Given the description of an element on the screen output the (x, y) to click on. 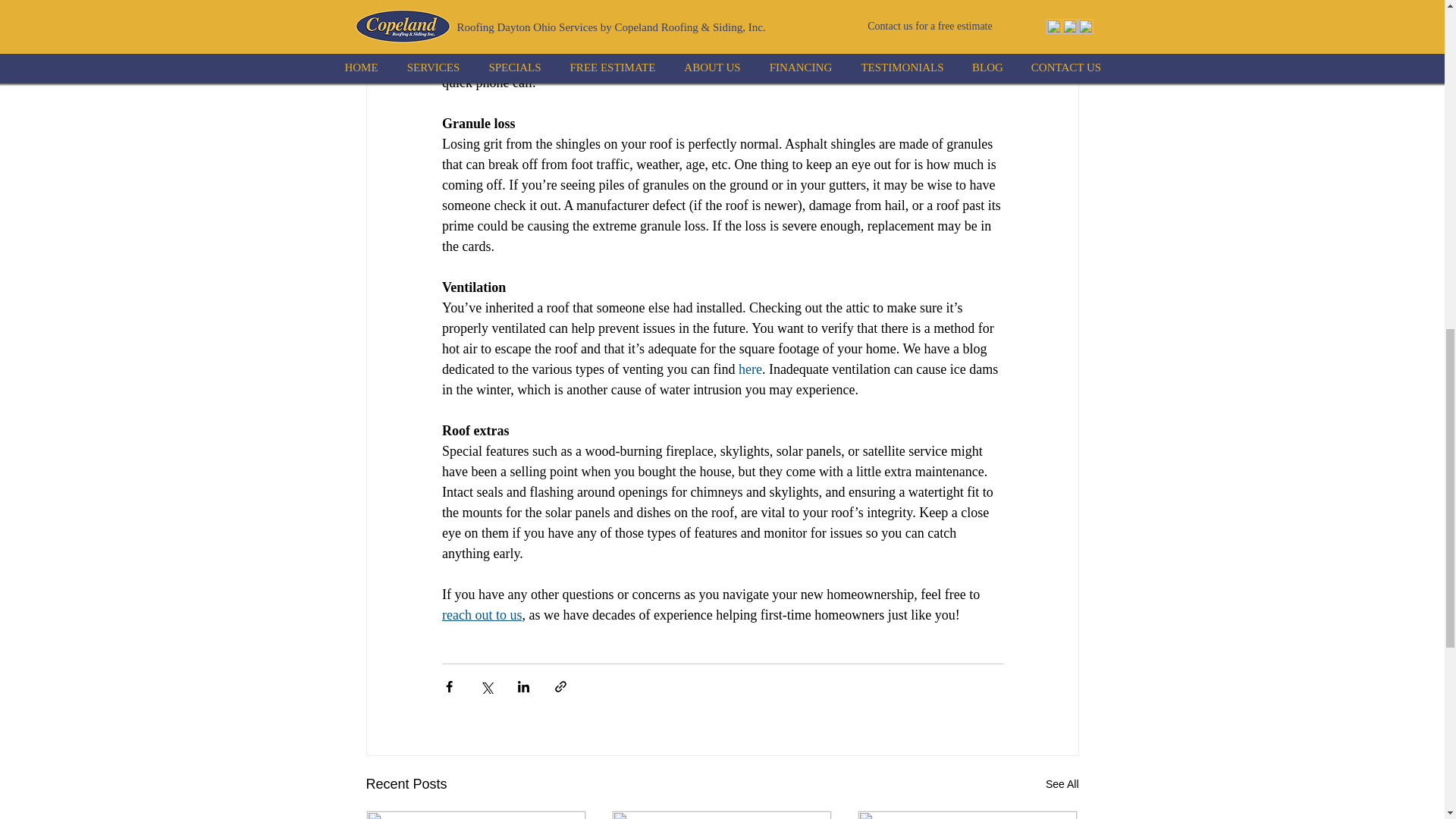
here (749, 368)
reach out to us (481, 614)
See All (1061, 784)
